Given the description of an element on the screen output the (x, y) to click on. 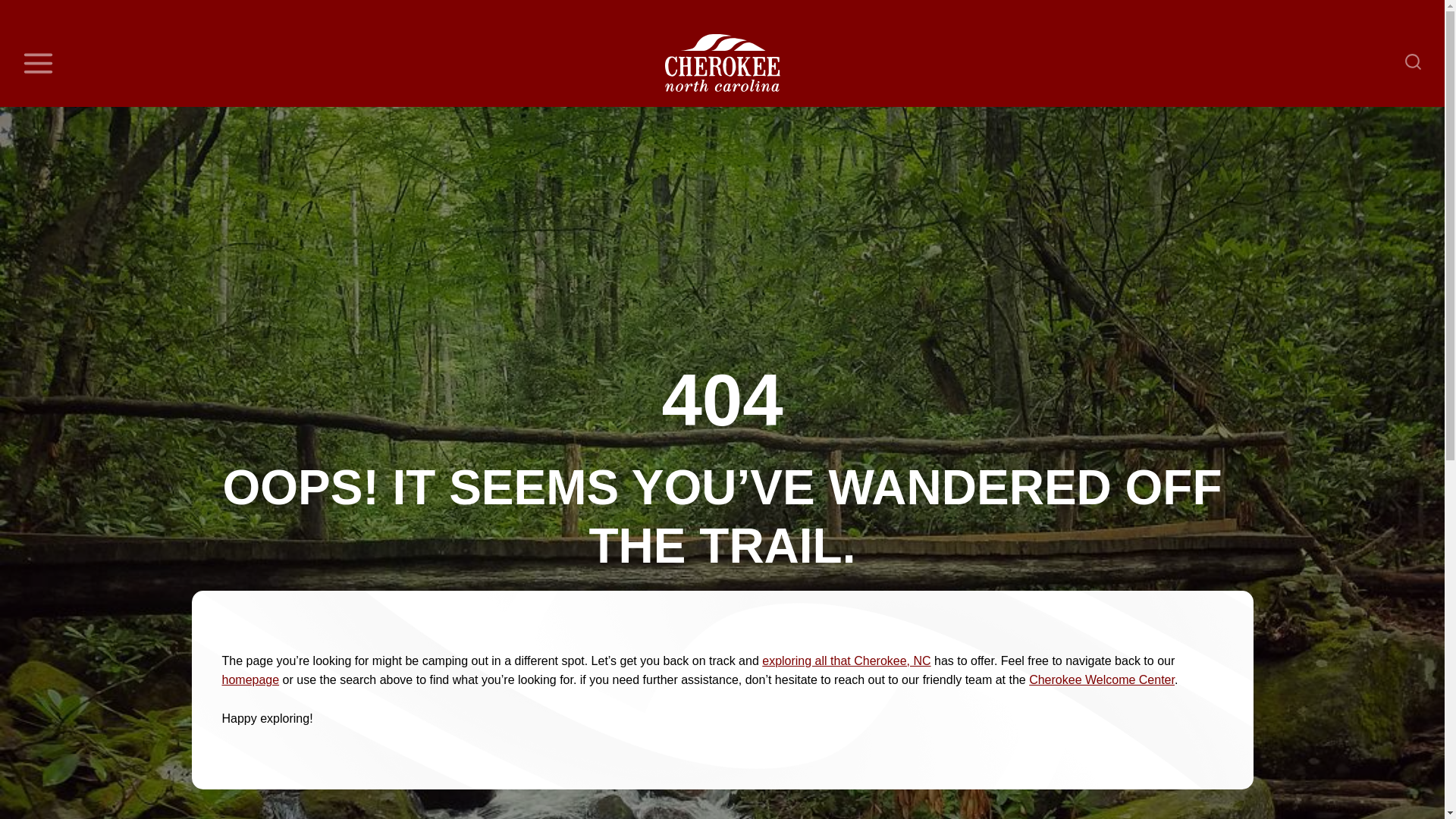
Cherokee Welcome Center (1101, 679)
Main Menu (38, 62)
exploring all that Cherokee, NC (845, 660)
homepage (250, 679)
